Given the description of an element on the screen output the (x, y) to click on. 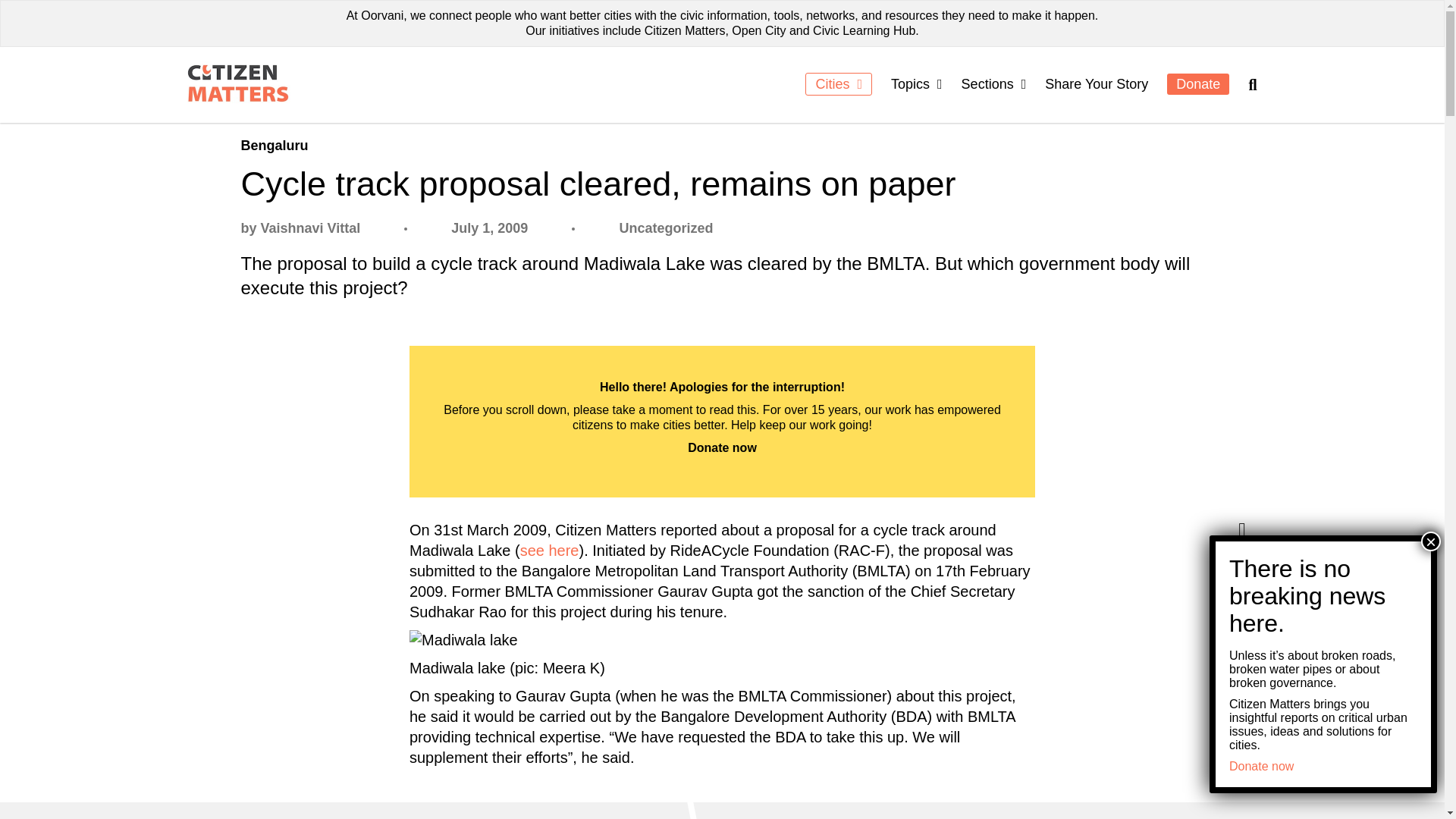
Cities (838, 83)
